Given the description of an element on the screen output the (x, y) to click on. 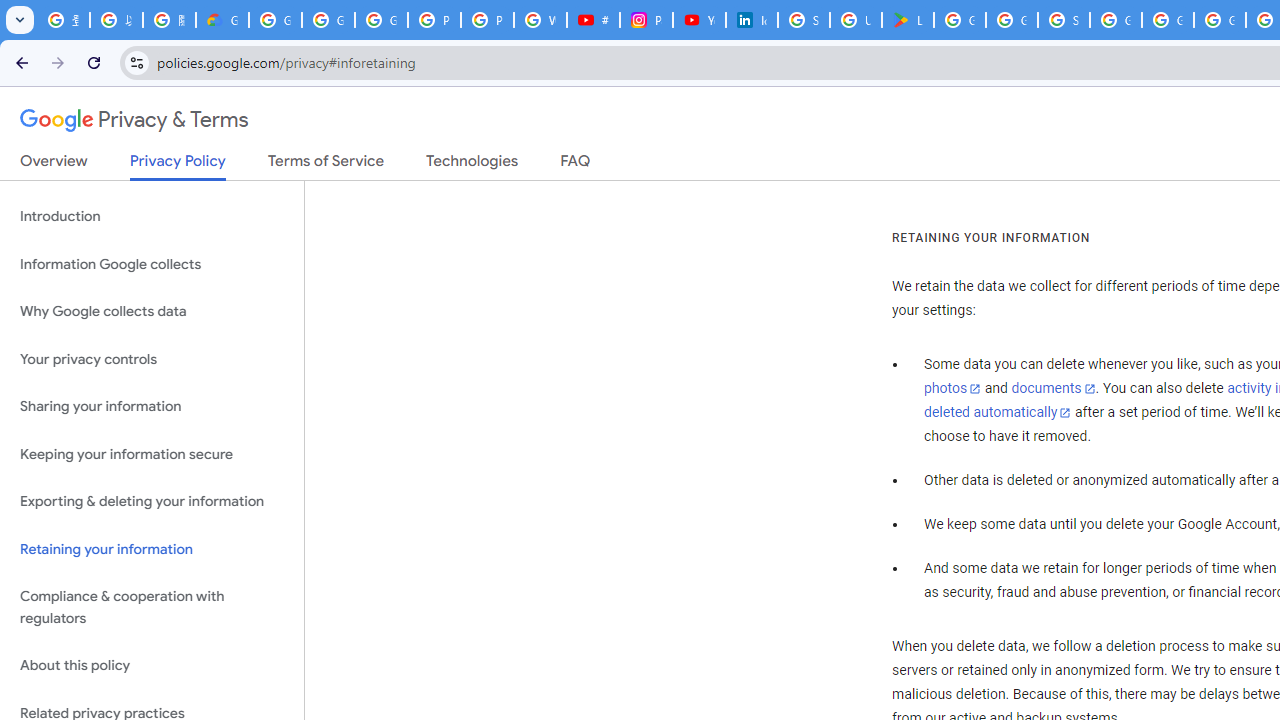
Exporting & deleting your information (152, 502)
Sharing your information (152, 407)
Privacy Help Center - Policies Help (487, 20)
Sign in - Google Accounts (803, 20)
Technologies (472, 165)
FAQ (575, 165)
Compliance & cooperation with regulators (152, 607)
Google Workspace - Specific Terms (1011, 20)
Identity verification via Persona | LinkedIn Help (751, 20)
Privacy & Terms (134, 120)
